Given the description of an element on the screen output the (x, y) to click on. 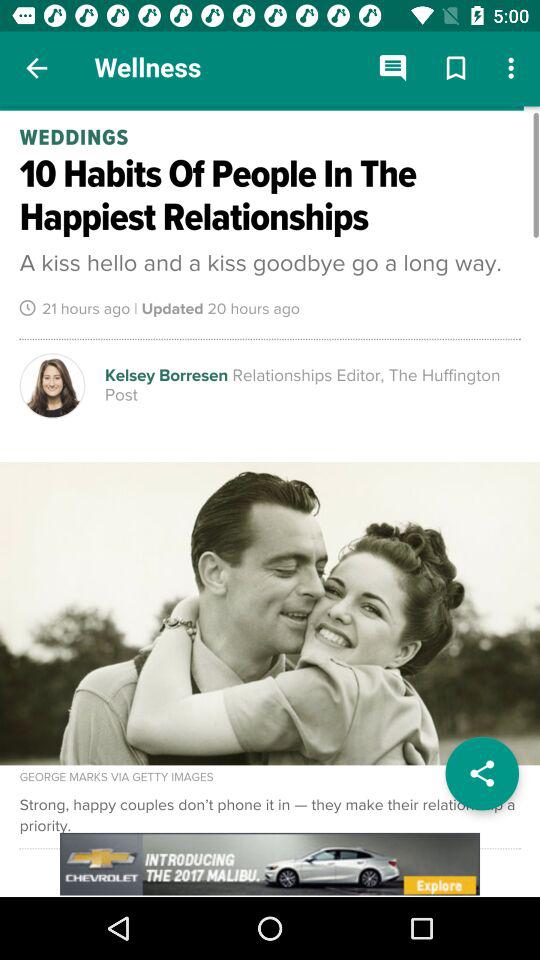
advertising (270, 863)
